Given the description of an element on the screen output the (x, y) to click on. 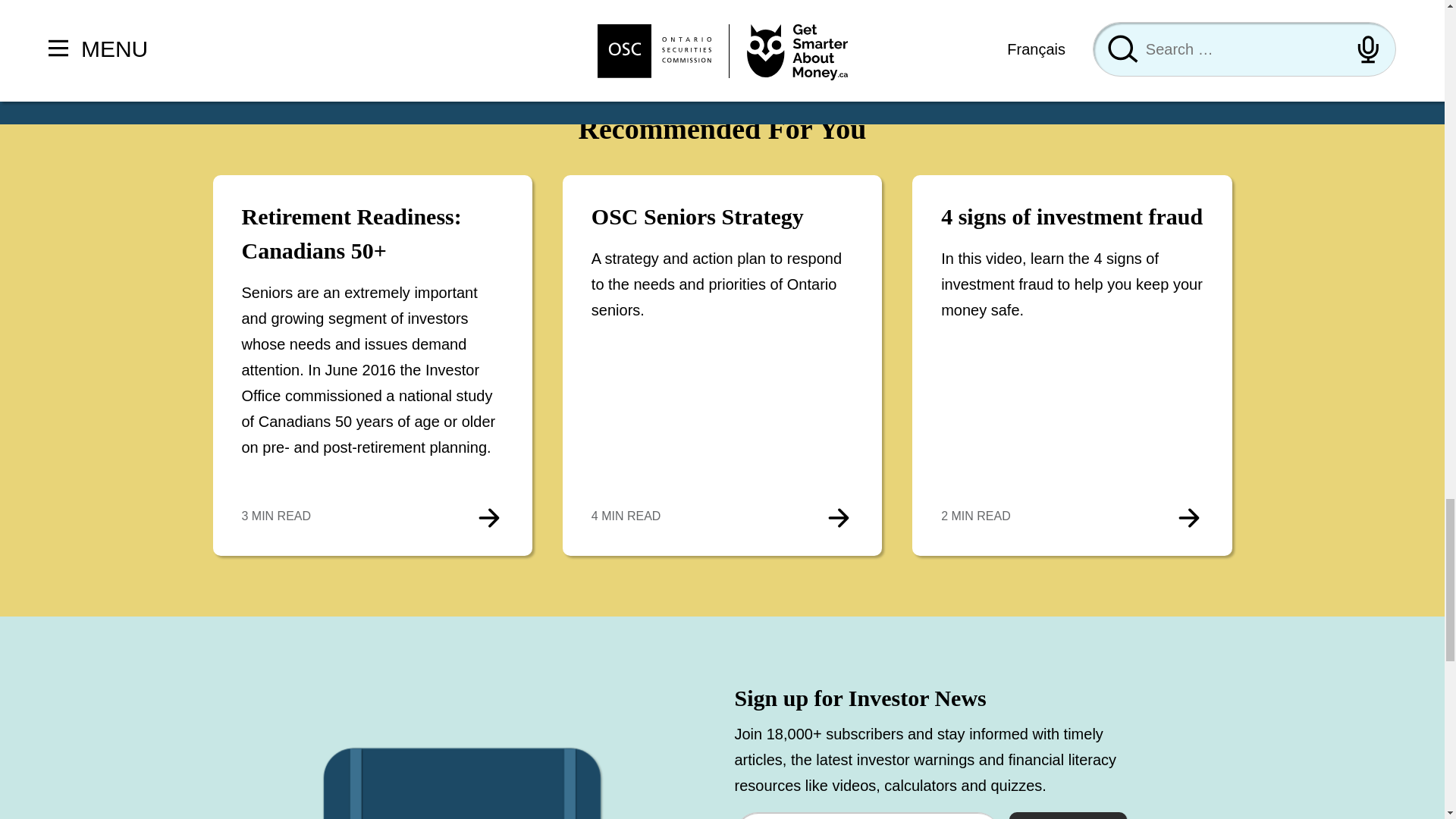
Subscribe (1067, 815)
